Given the description of an element on the screen output the (x, y) to click on. 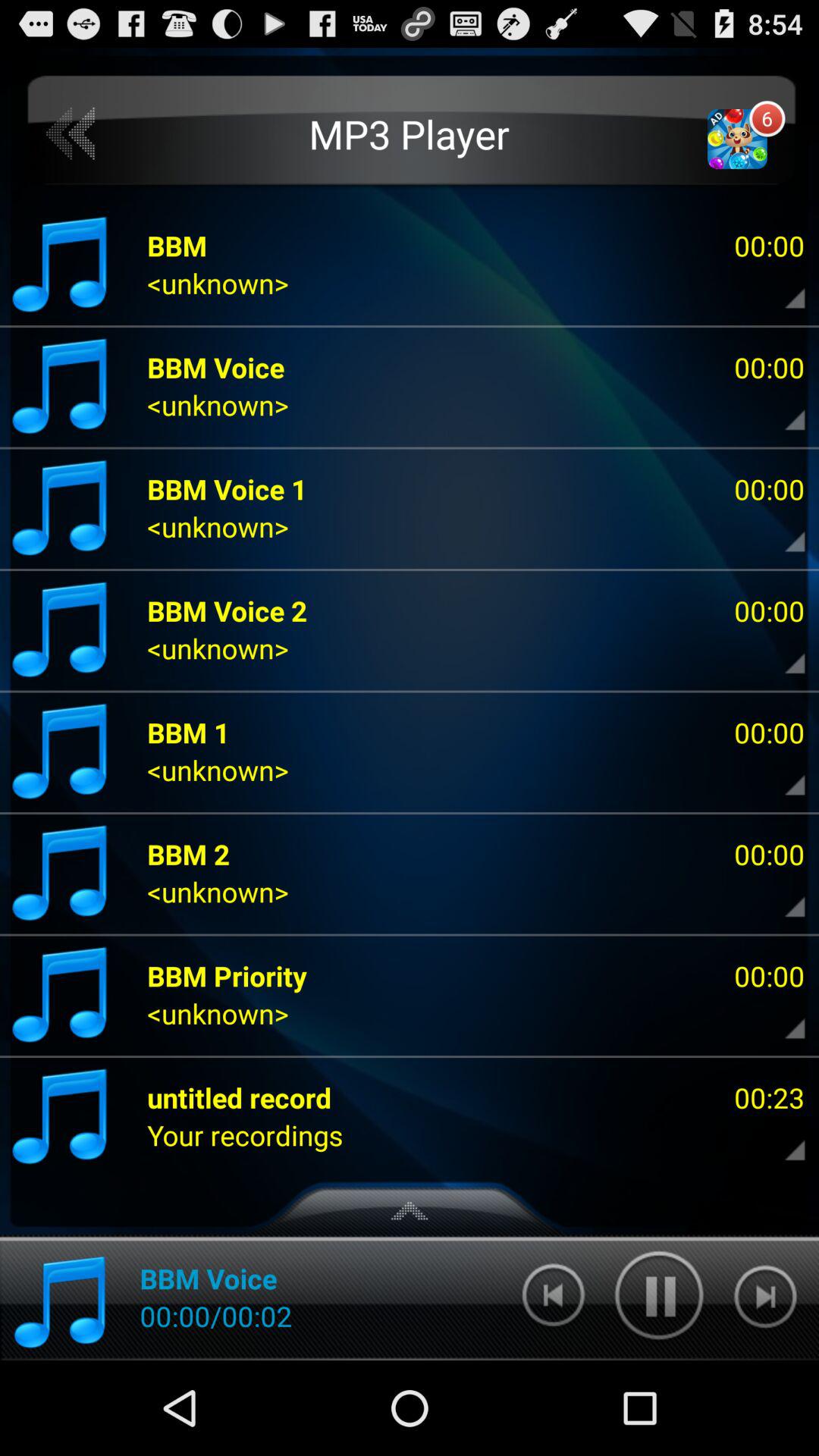
click the item to the left of 00:00 (227, 975)
